Given the description of an element on the screen output the (x, y) to click on. 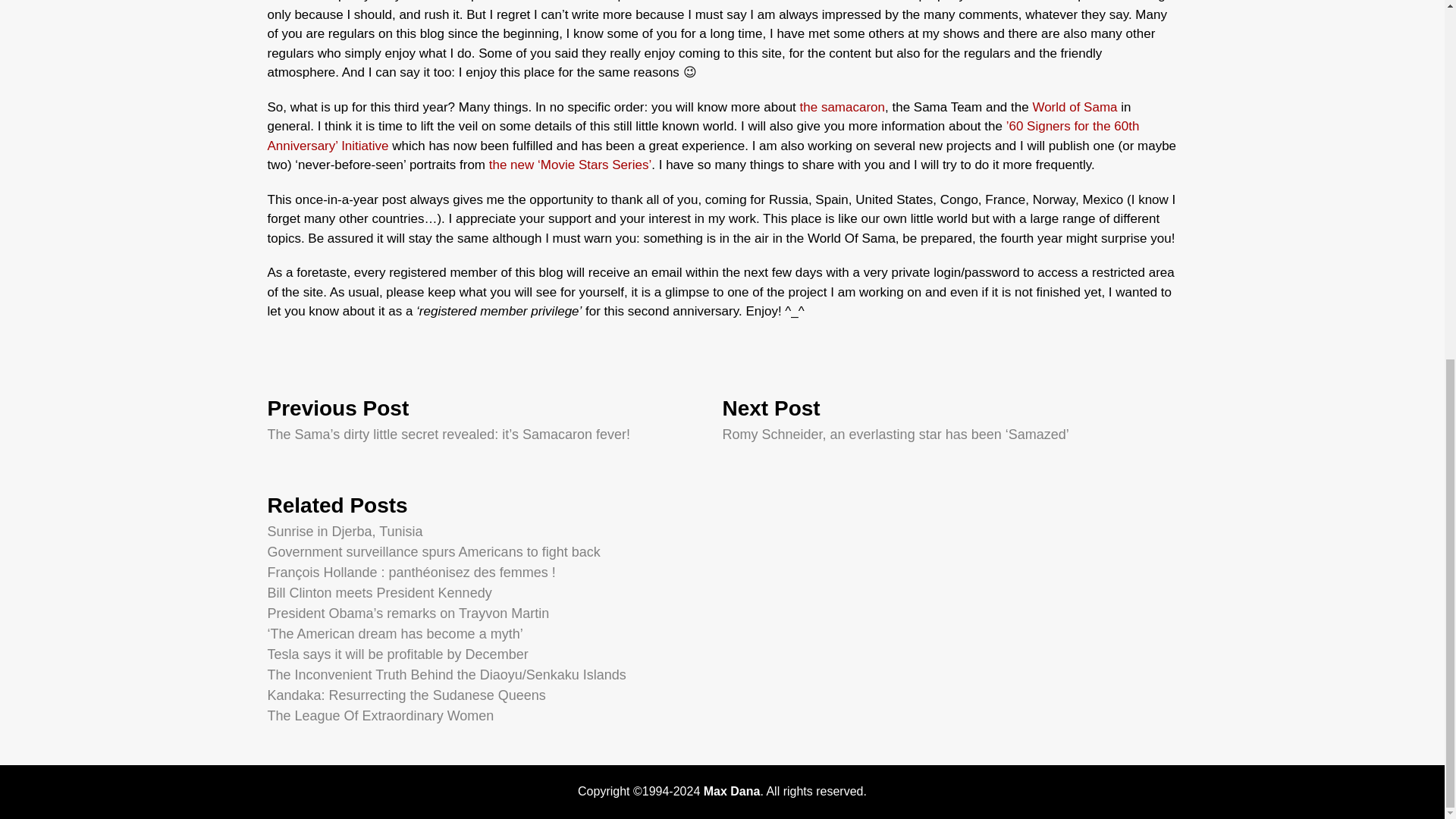
the samacaron (842, 106)
